Given the description of an element on the screen output the (x, y) to click on. 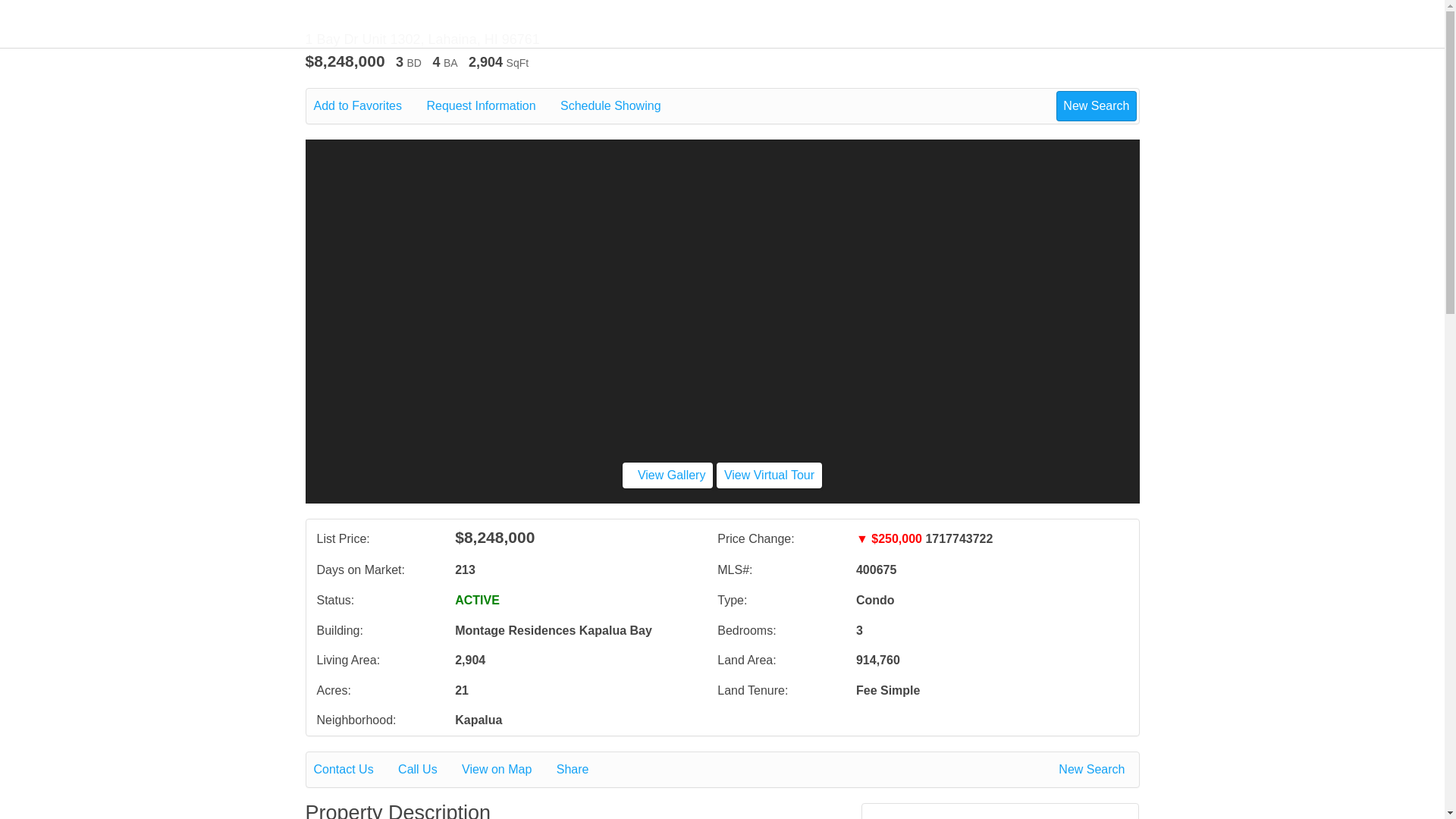
New Search (1096, 105)
Call Us (427, 769)
Schedule Showing (621, 106)
View Virtual Tour (769, 475)
View Gallery (668, 474)
View on Map (507, 769)
Contact Us (354, 769)
Share (583, 769)
Add to Favorites (368, 106)
View Virtual Tour (769, 474)
New Search (1094, 769)
Request Information (491, 106)
View Gallery (668, 475)
